Given the description of an element on the screen output the (x, y) to click on. 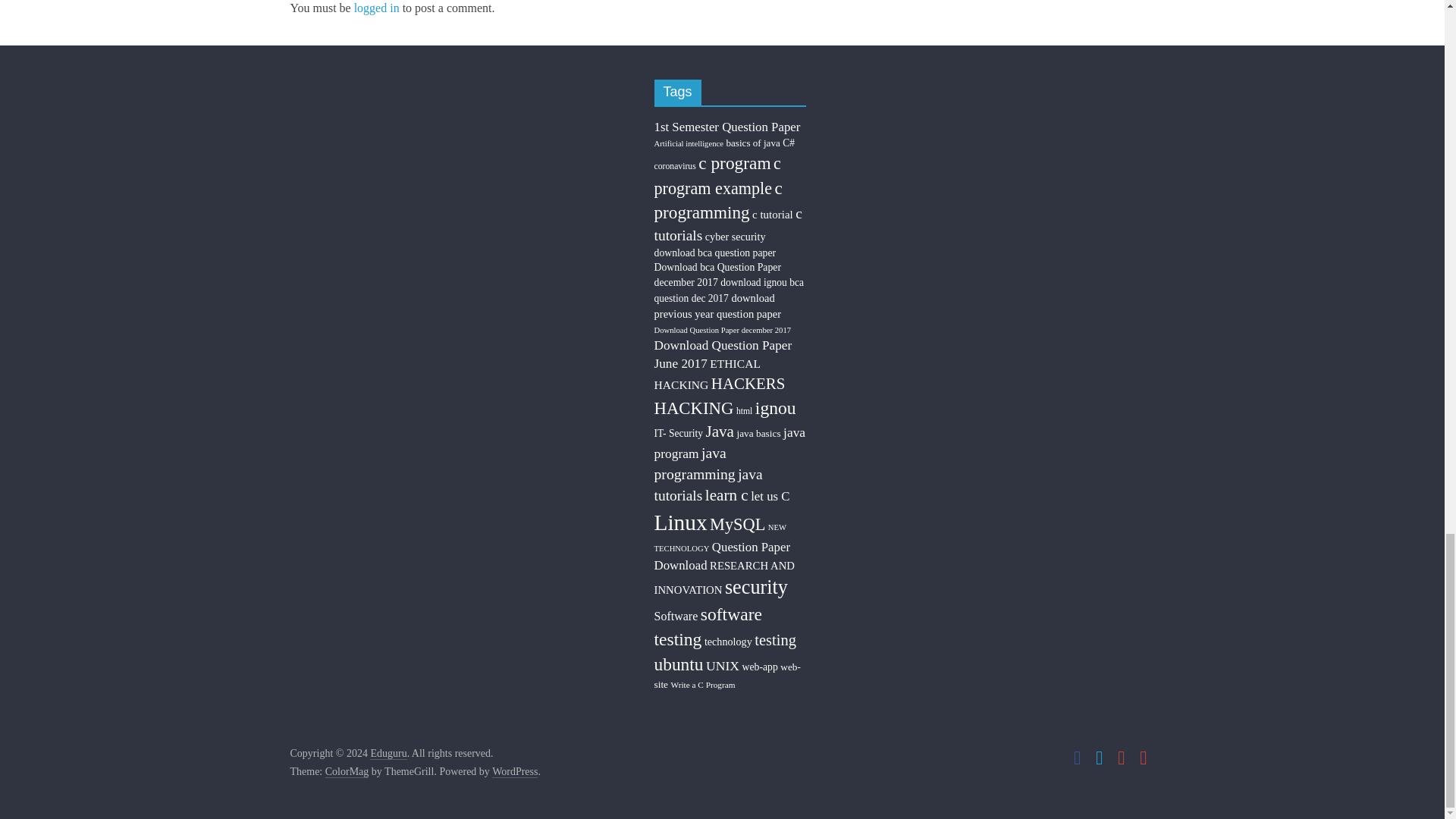
Eduguru (387, 753)
ColorMag (346, 771)
logged in (375, 7)
WordPress (514, 771)
